Given the description of an element on the screen output the (x, y) to click on. 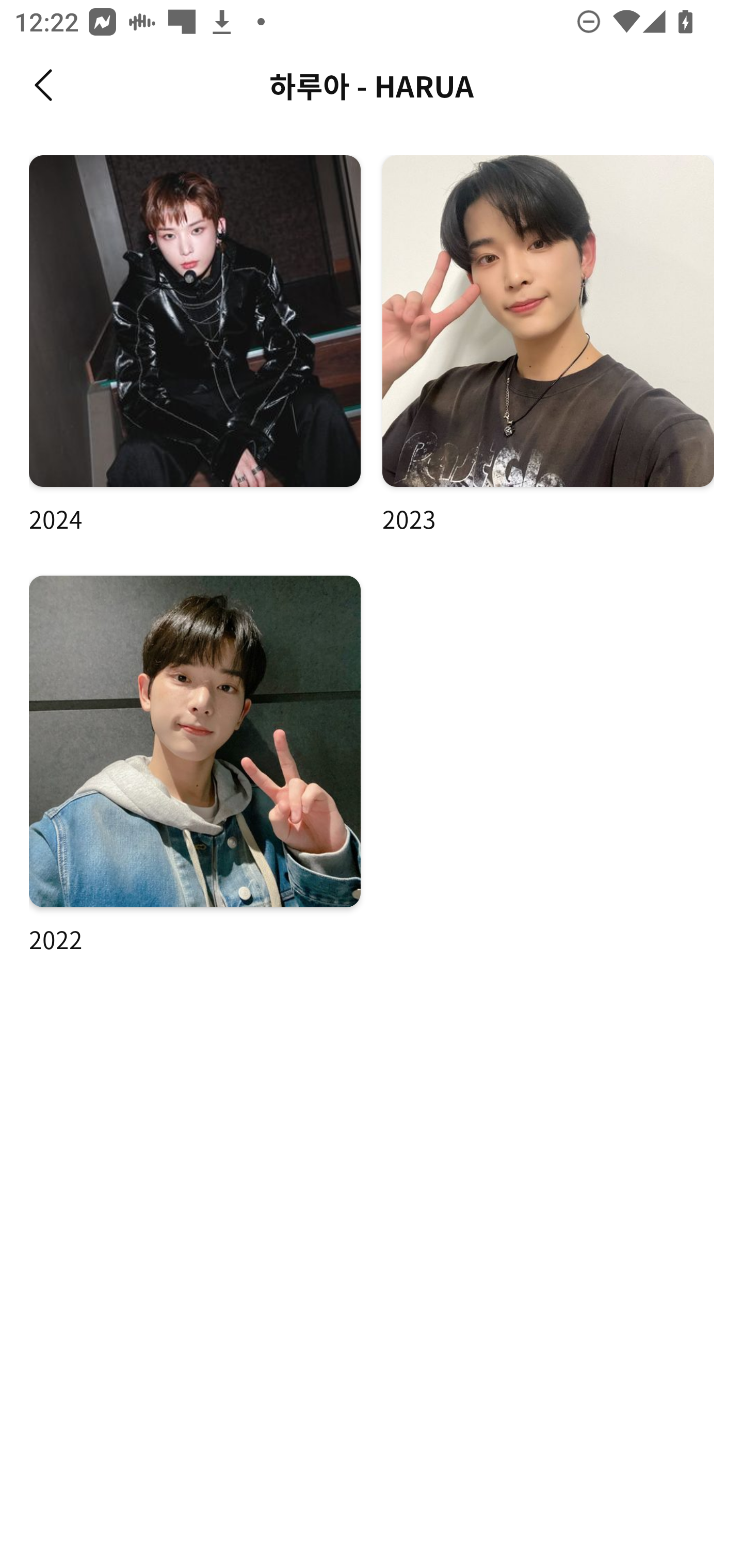
2024 (194, 345)
2023 (548, 345)
2022 (194, 765)
